Given the description of an element on the screen output the (x, y) to click on. 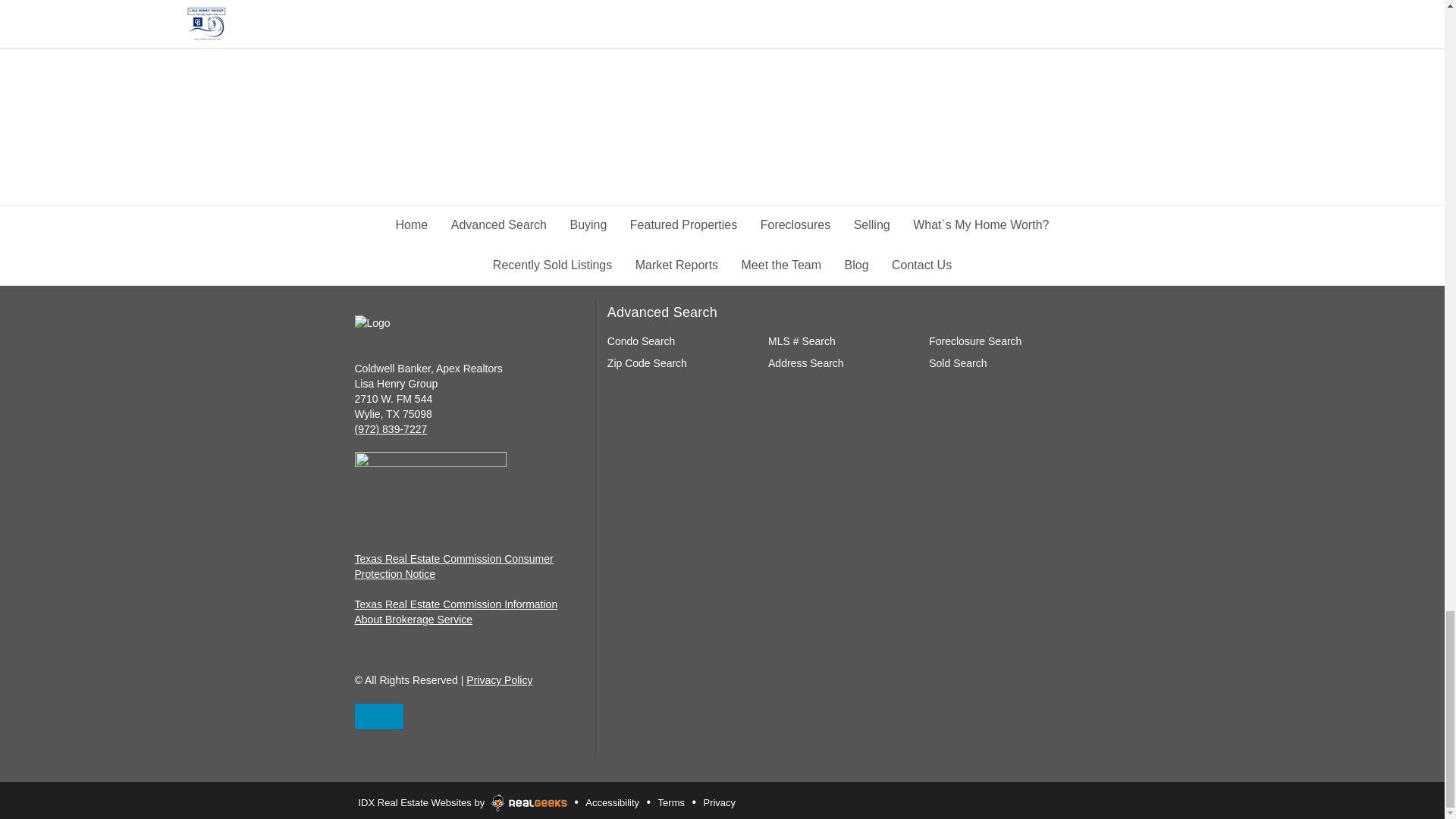
Logo (468, 322)
MLS Logo (430, 479)
Go to top (379, 715)
